Given the description of an element on the screen output the (x, y) to click on. 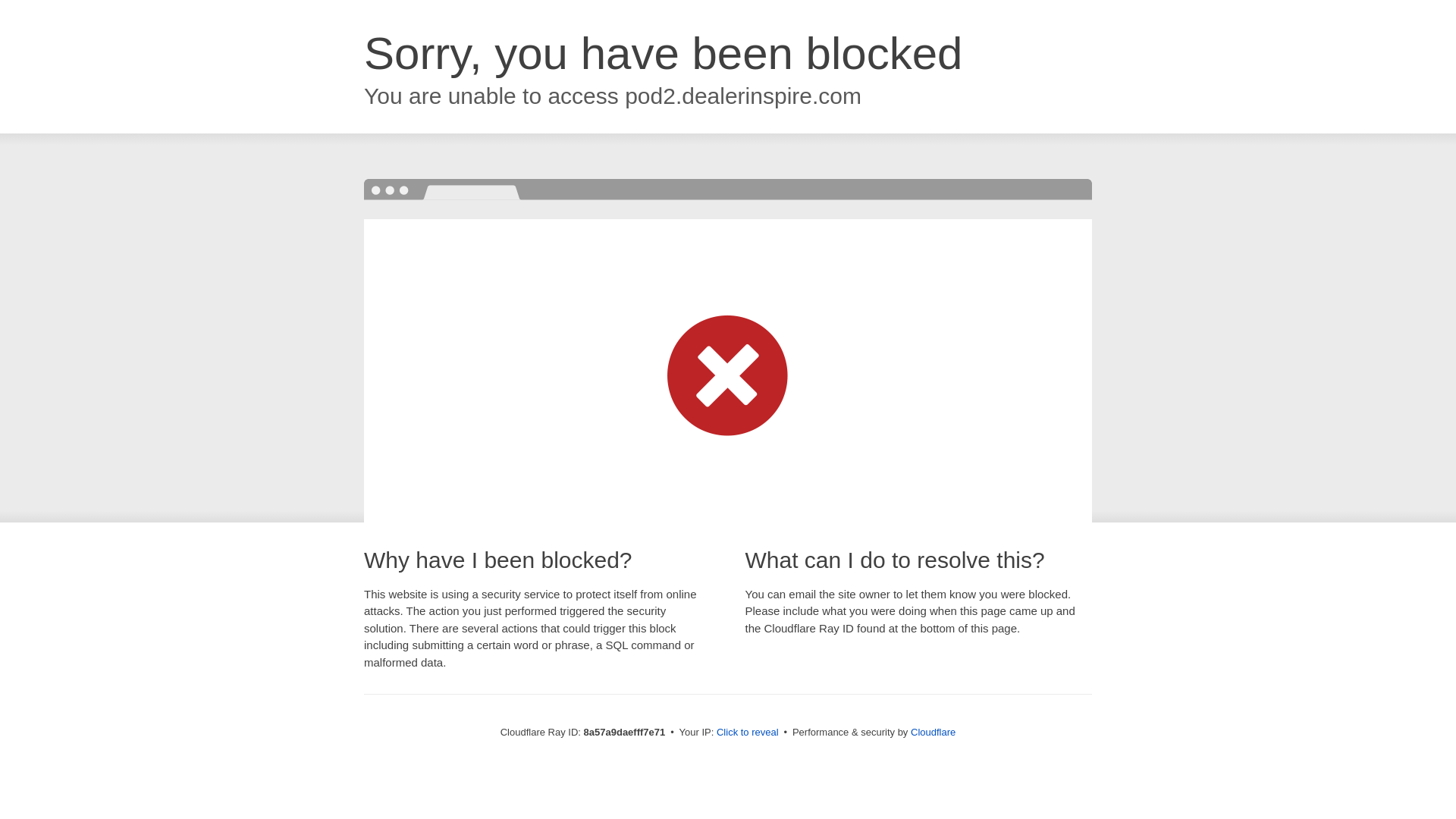
Click to reveal (747, 732)
Cloudflare (933, 731)
